Given the description of an element on the screen output the (x, y) to click on. 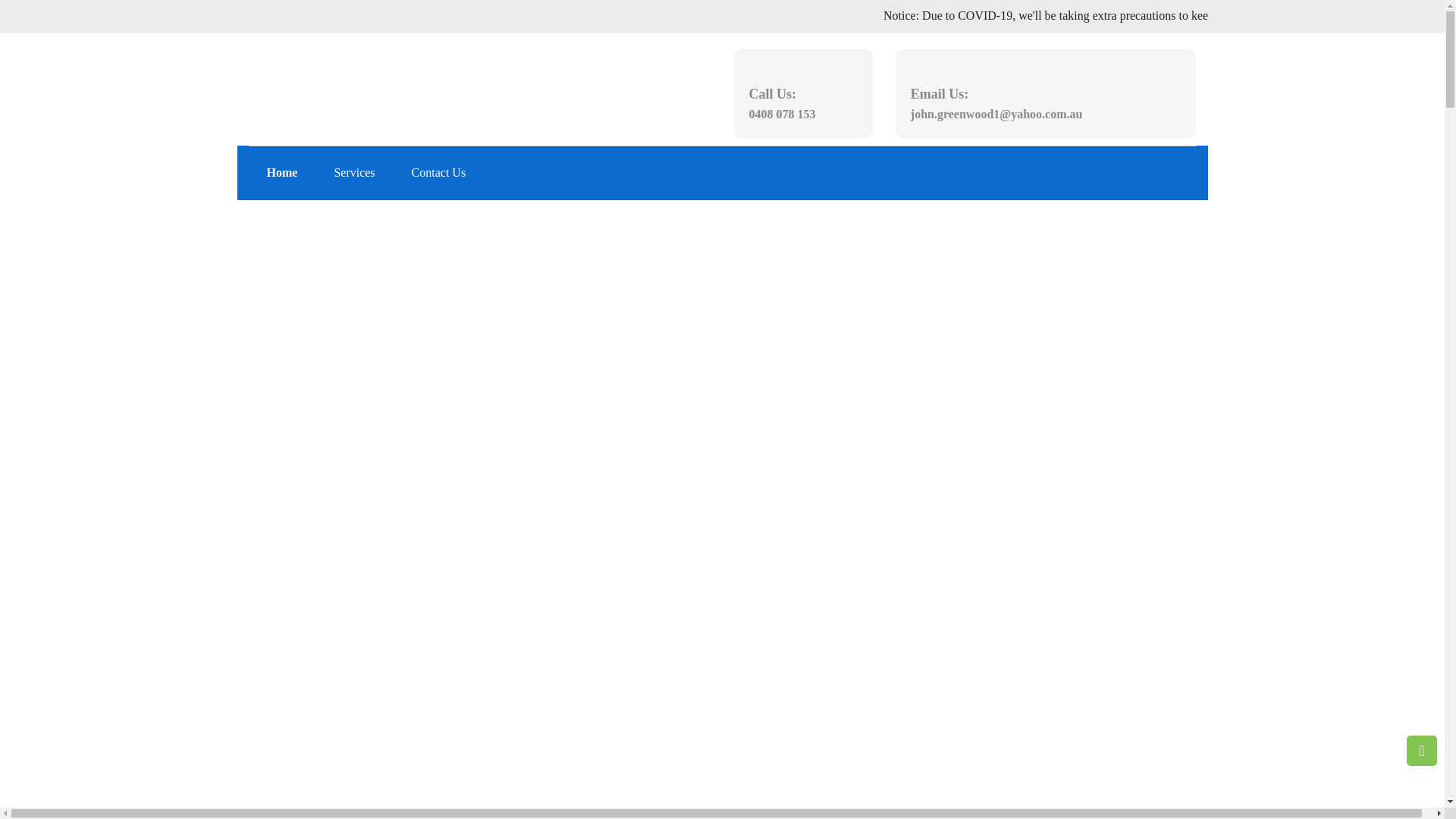
Home Element type: text (282, 173)
Services Element type: text (353, 173)
Logo Element type: hover (397, 79)
Banner Image Element type: hover (722, 480)
Contact Us Element type: text (438, 173)
